Given the description of an element on the screen output the (x, y) to click on. 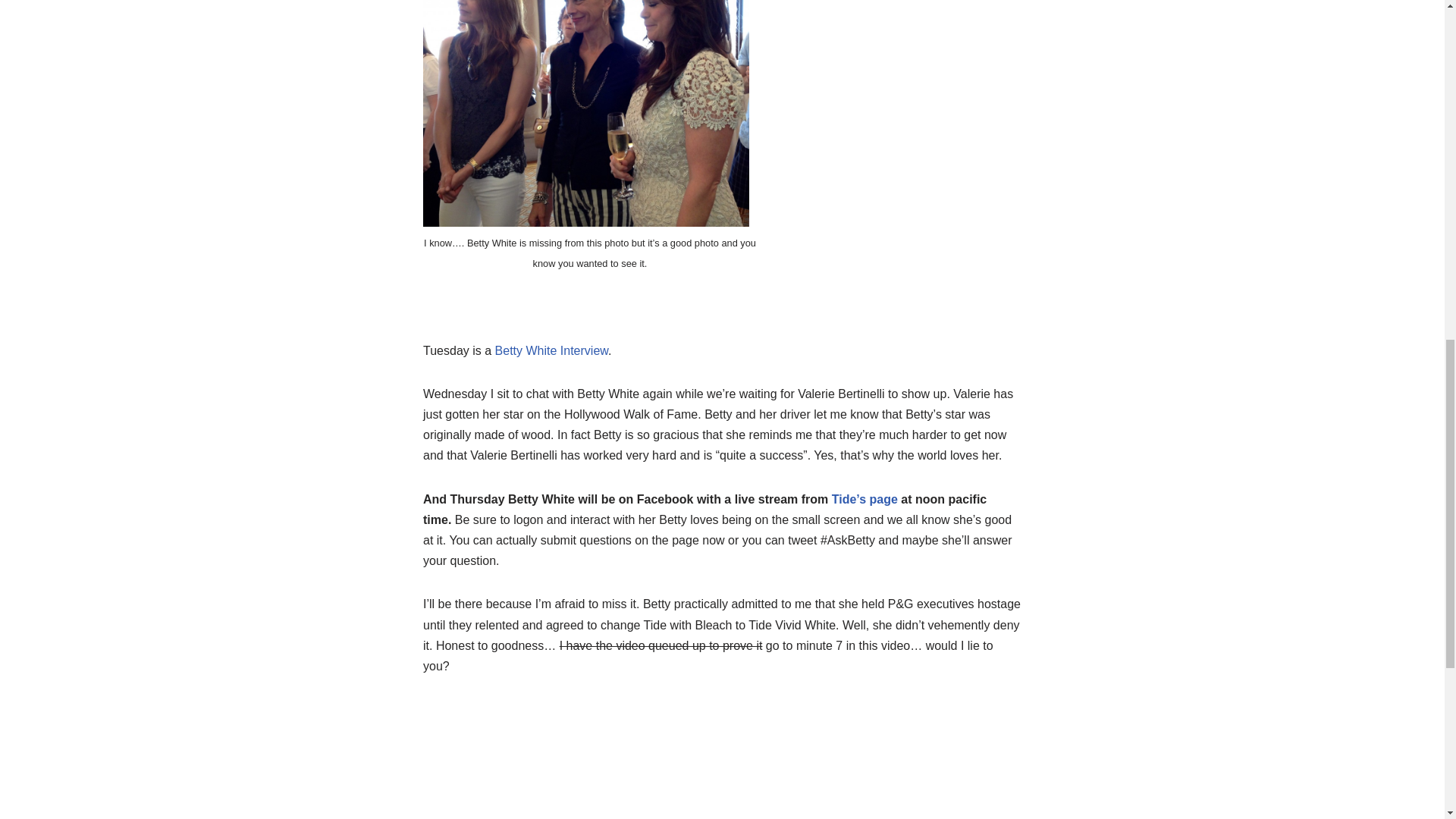
Betty White Interview (551, 350)
Valerie Bertinelli Jane Leeves Wendie Malick (586, 113)
Betty White, Previlean, Eylashes and The Beach (551, 350)
